Given the description of an element on the screen output the (x, y) to click on. 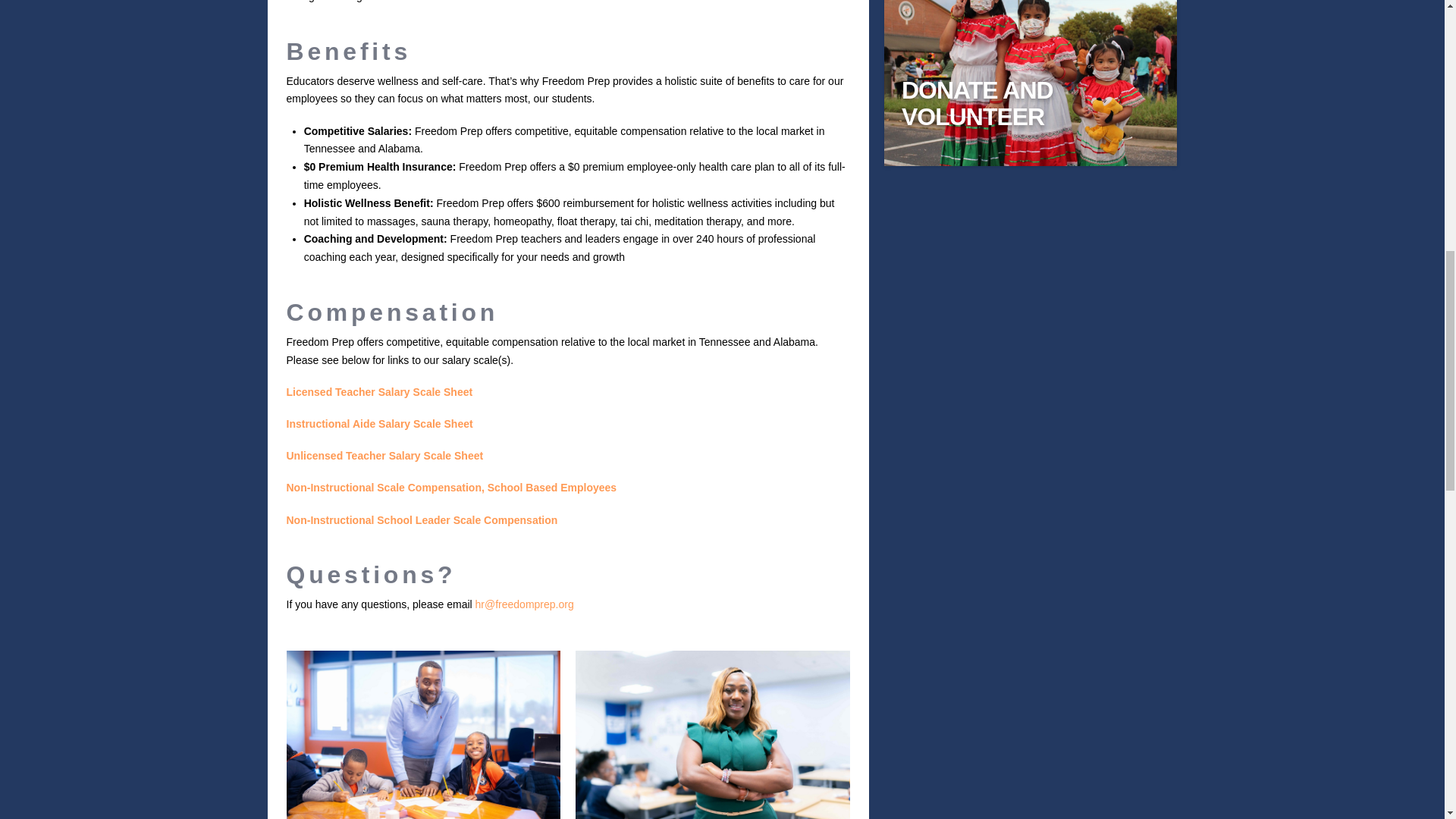
Unlicensed Teacher Salary Scale Sheet (384, 455)
Licensed Teacher Salary Scale Sheet (379, 391)
DONATE AND VOLUNTEER (1029, 103)
Instructional Aide Salary Scale Sheet (379, 423)
Non-Instructional School Leader Scale Compensation (421, 520)
Non-Instructional Scale Compensation, School Based Employees (451, 487)
